Given the description of an element on the screen output the (x, y) to click on. 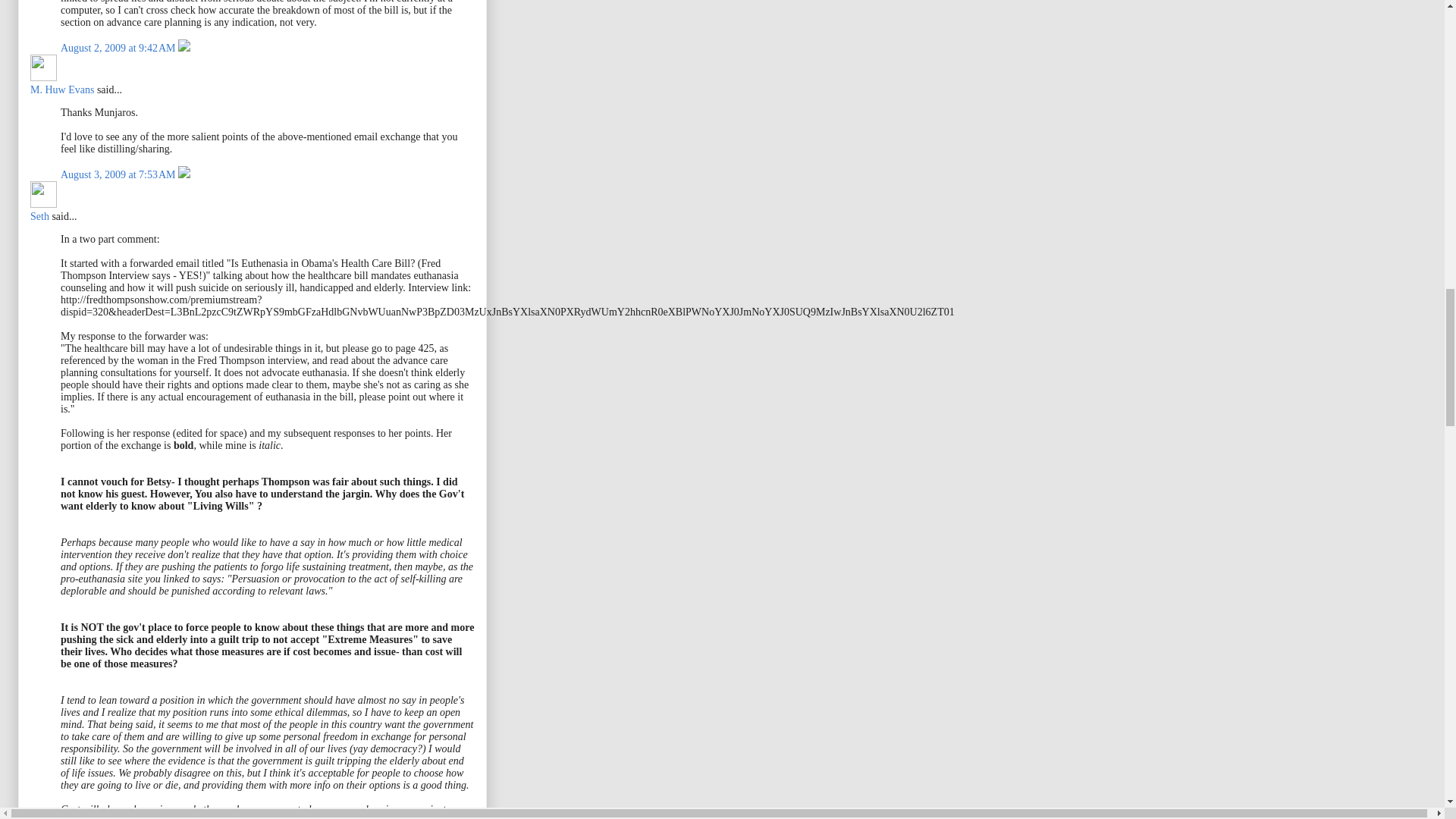
Delete Comment (183, 174)
comment permalink (119, 174)
Seth (43, 194)
Delete Comment (183, 48)
M. Huw Evans (43, 67)
comment permalink (119, 48)
Seth (39, 215)
M. Huw Evans (62, 89)
